Given the description of an element on the screen output the (x, y) to click on. 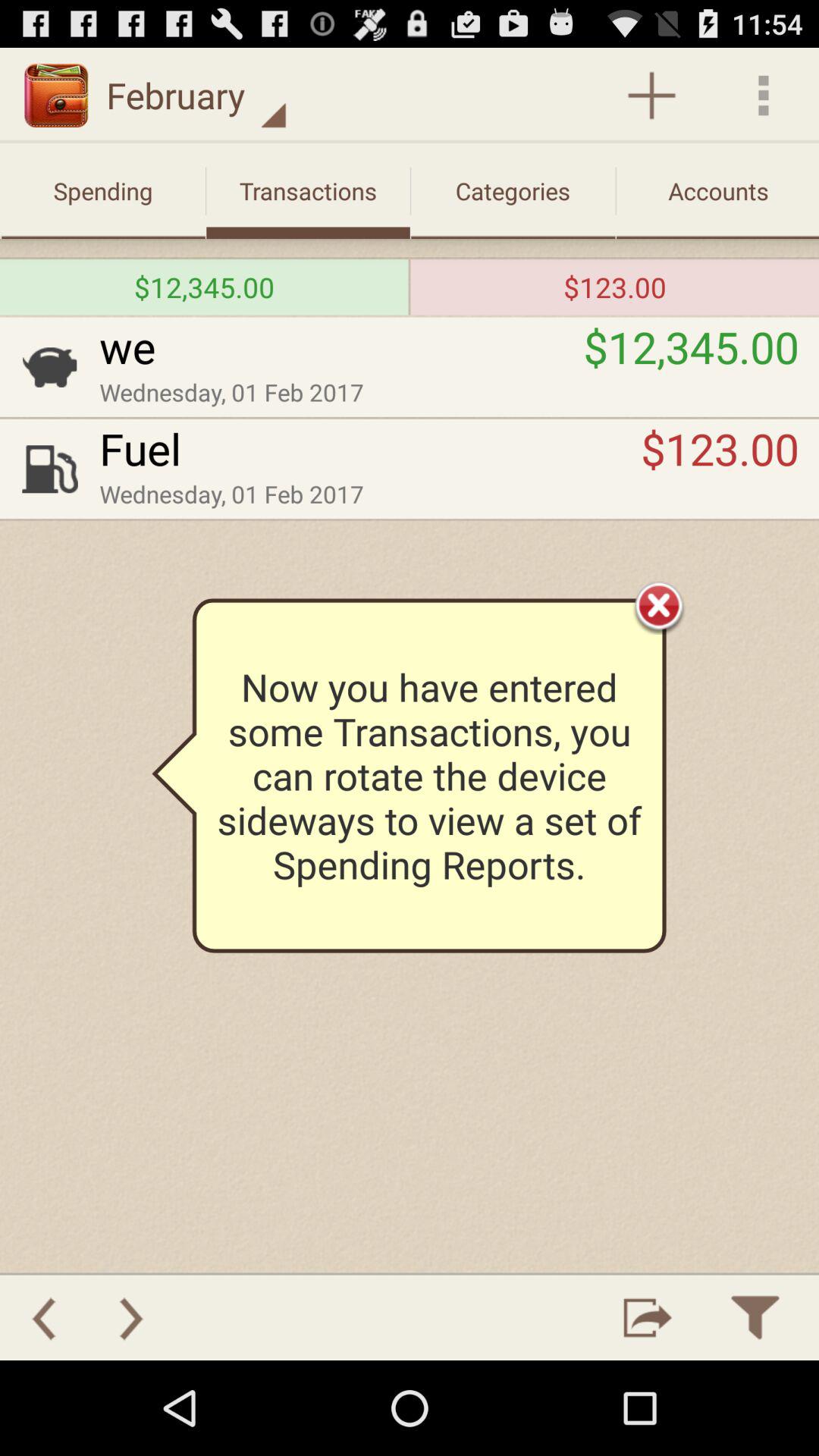
open item above the accounts item (651, 95)
